Given the description of an element on the screen output the (x, y) to click on. 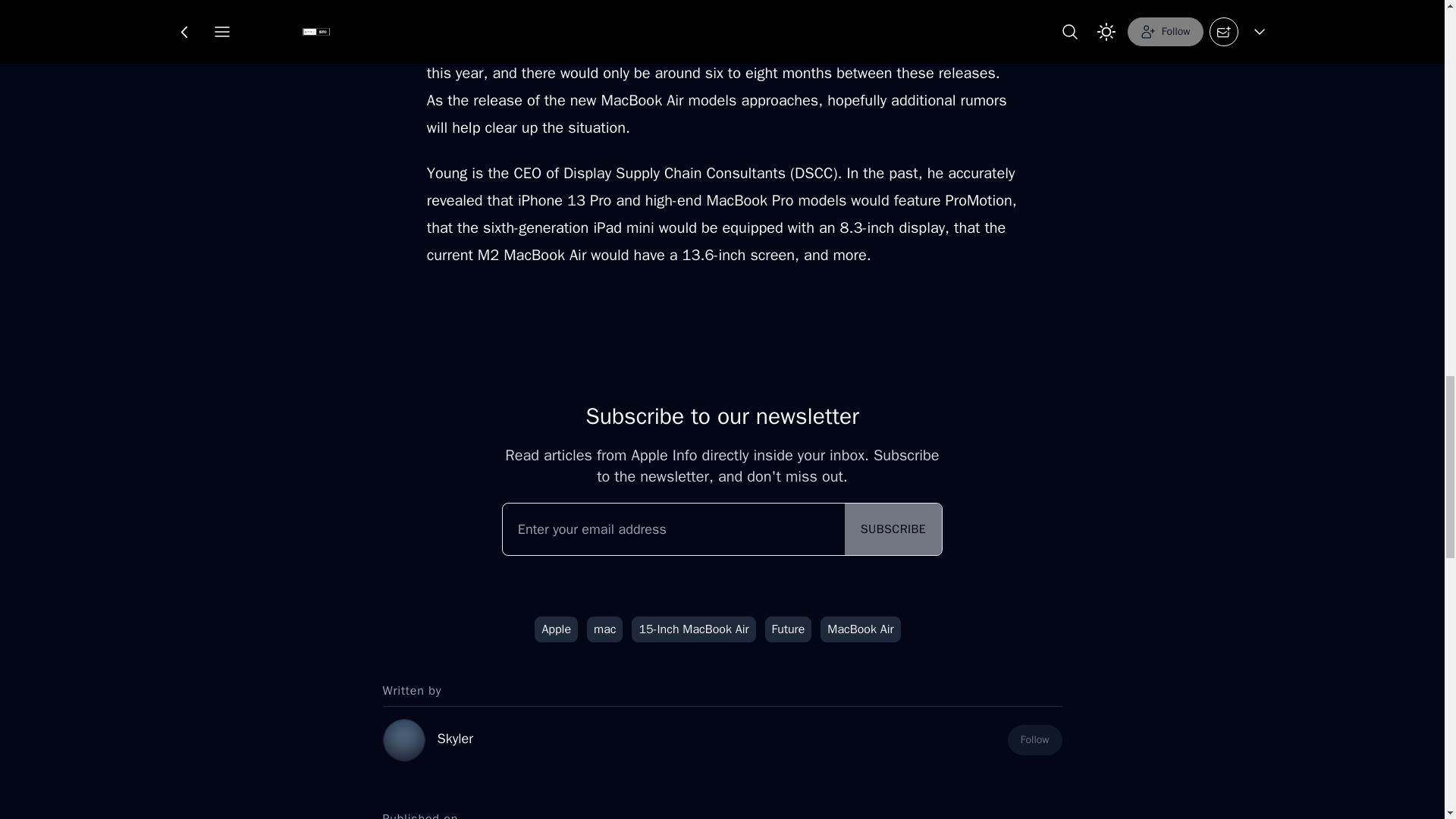
SUBSCRIBE (893, 529)
mac (604, 629)
Apple (556, 629)
Skyler (453, 738)
15-Inch MacBook Air (693, 629)
MacBook Air (860, 629)
Future (788, 629)
Follow (1034, 739)
